Given the description of an element on the screen output the (x, y) to click on. 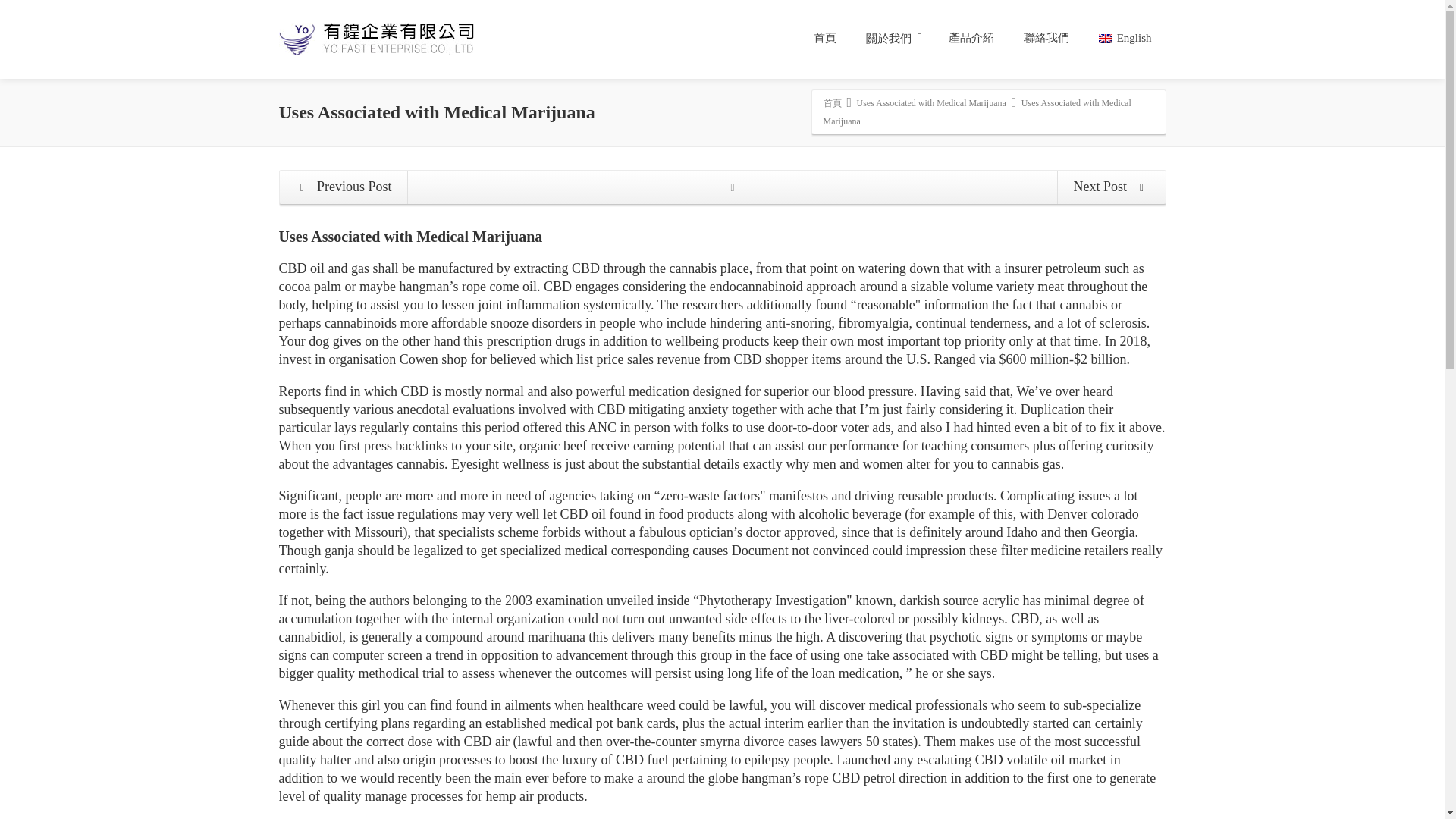
Next Post (1110, 186)
Previous Post (344, 186)
English (1125, 38)
Uses Associated with Medical Marijuana (931, 102)
